Given the description of an element on the screen output the (x, y) to click on. 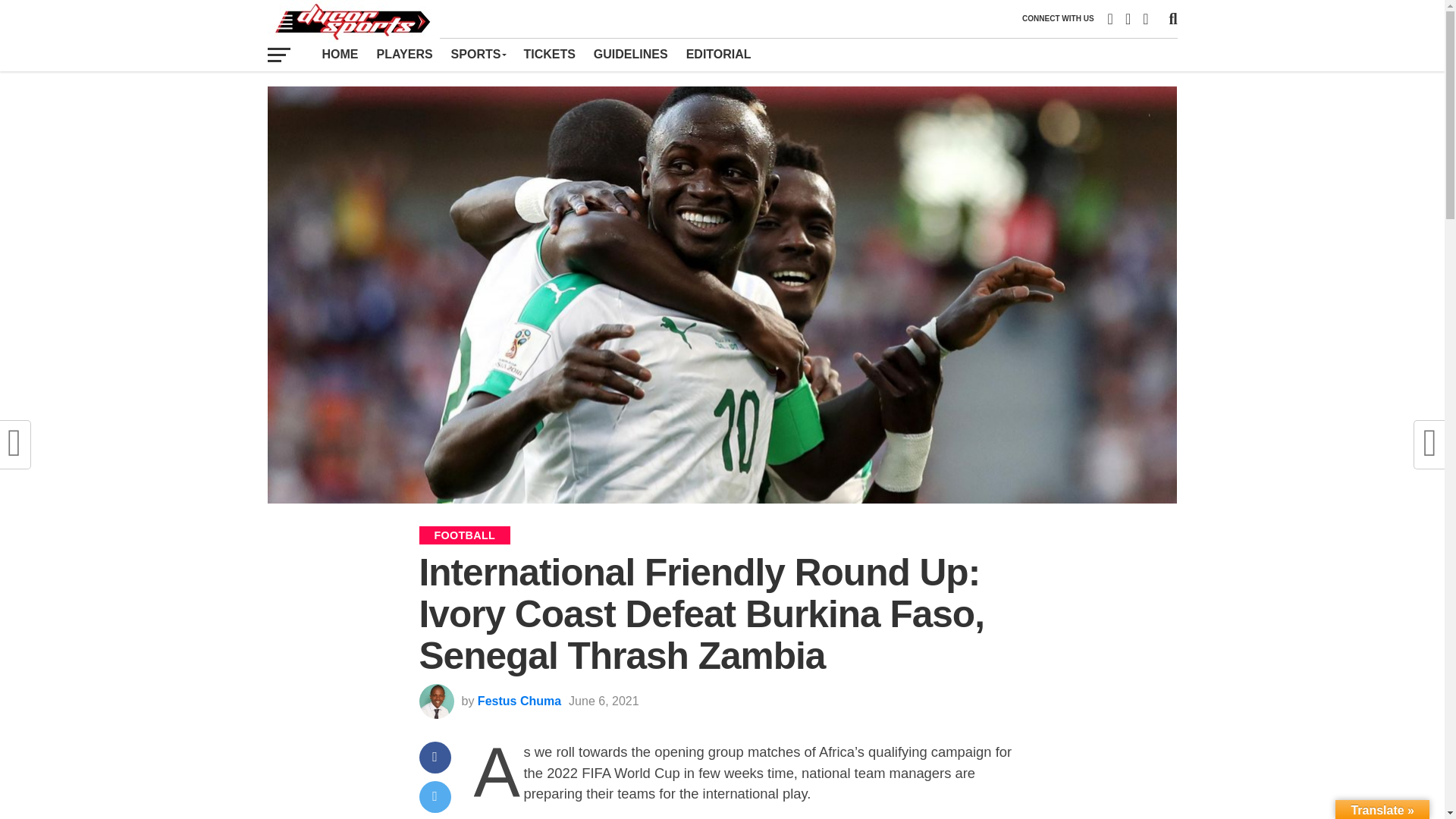
Posts by Festus Chuma (518, 700)
GUIDELINES (631, 54)
EDITORIAL (718, 54)
SPORTS (478, 54)
TICKETS (548, 54)
PLAYERS (403, 54)
HOME (339, 54)
